Given the description of an element on the screen output the (x, y) to click on. 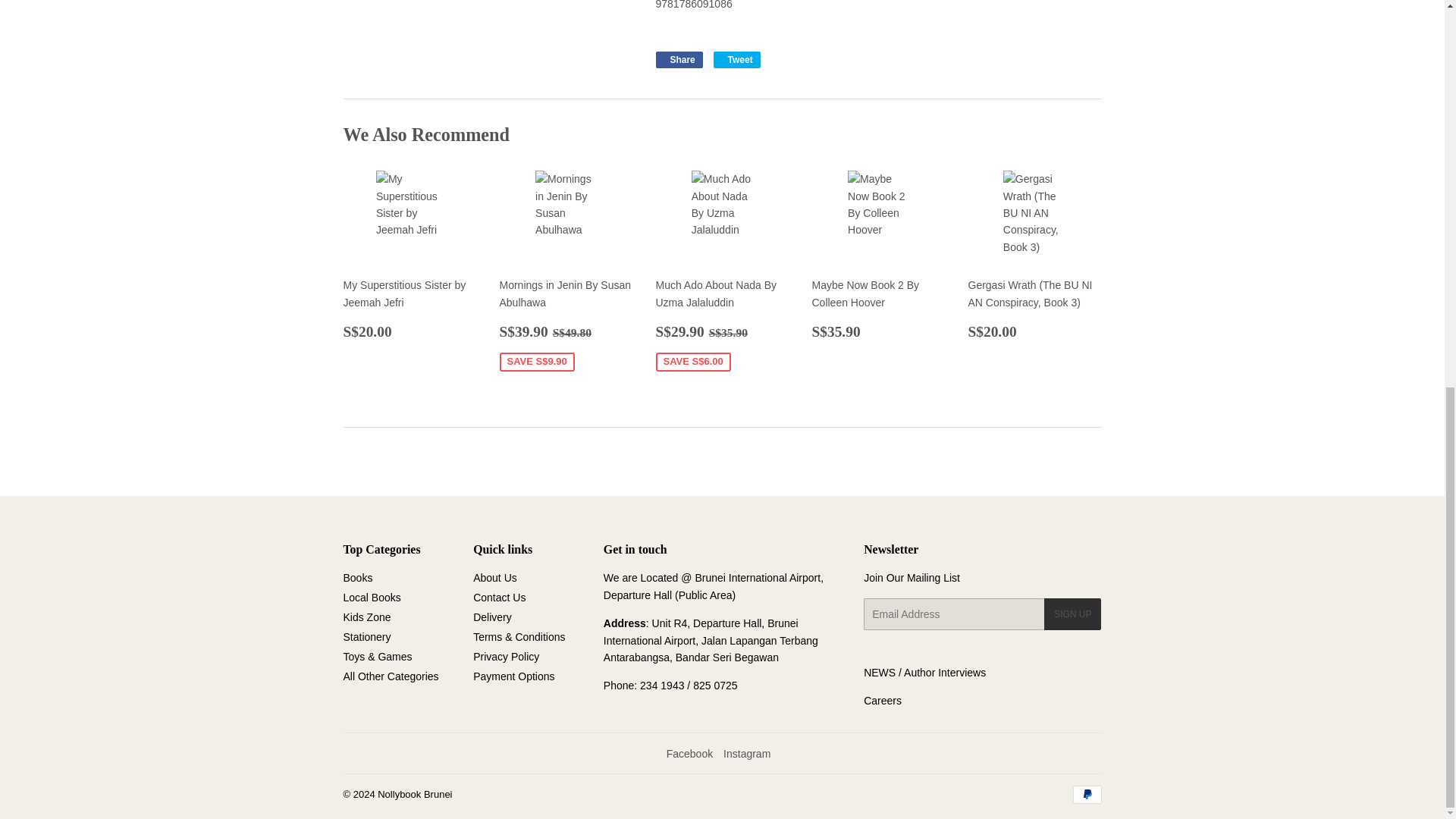
Nollybook Brunei on Instagram (746, 753)
PayPal (1085, 794)
News (879, 672)
Tweet on Twitter (736, 59)
Share on Facebook (678, 59)
Nollybook Brunei on Facebook (689, 753)
Author Interviews (944, 672)
